Given the description of an element on the screen output the (x, y) to click on. 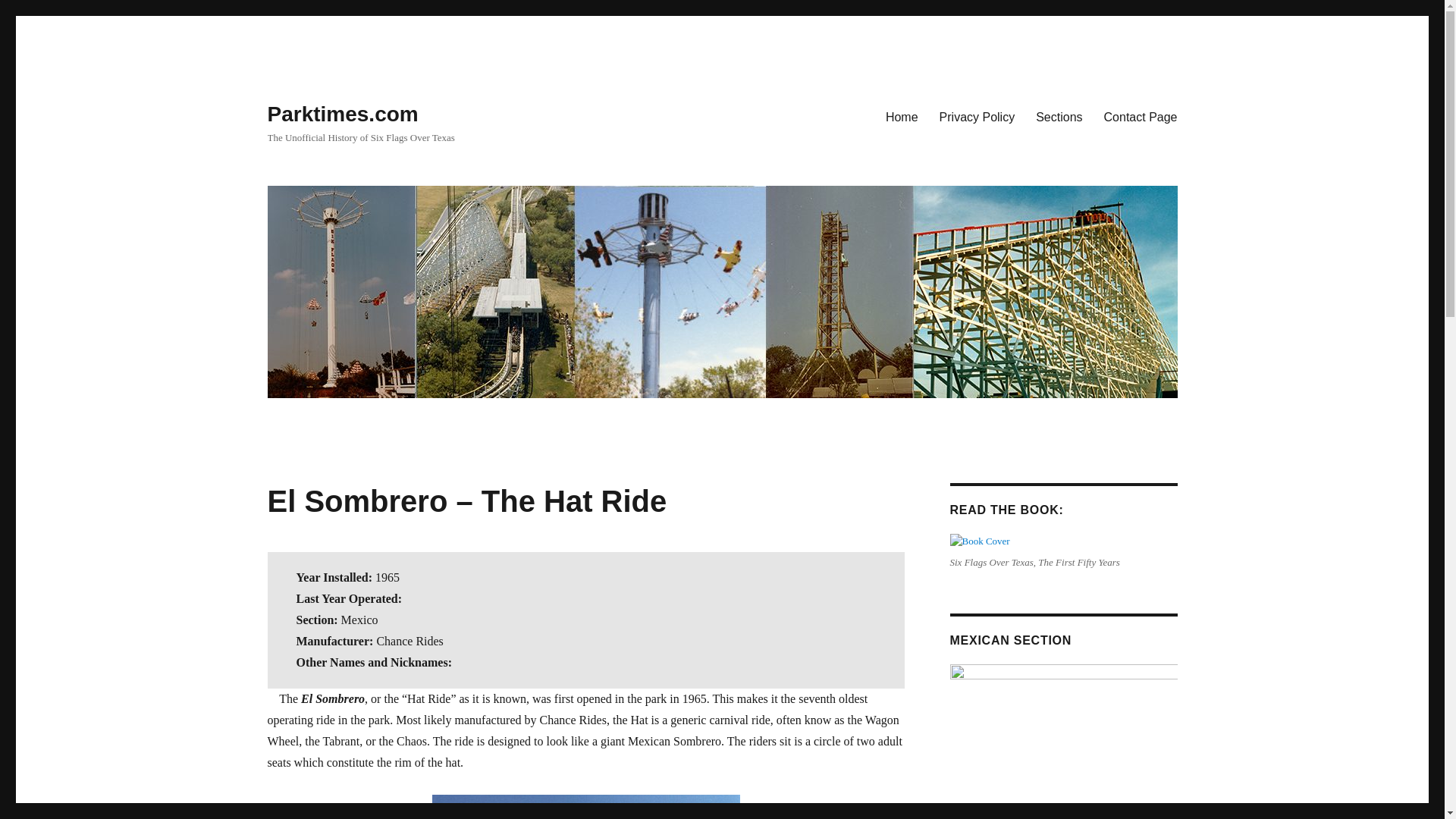
Home (901, 116)
Privacy Policy (977, 116)
Contact Page (1140, 116)
Parktimes.com (341, 114)
Sections (1059, 116)
